Given the description of an element on the screen output the (x, y) to click on. 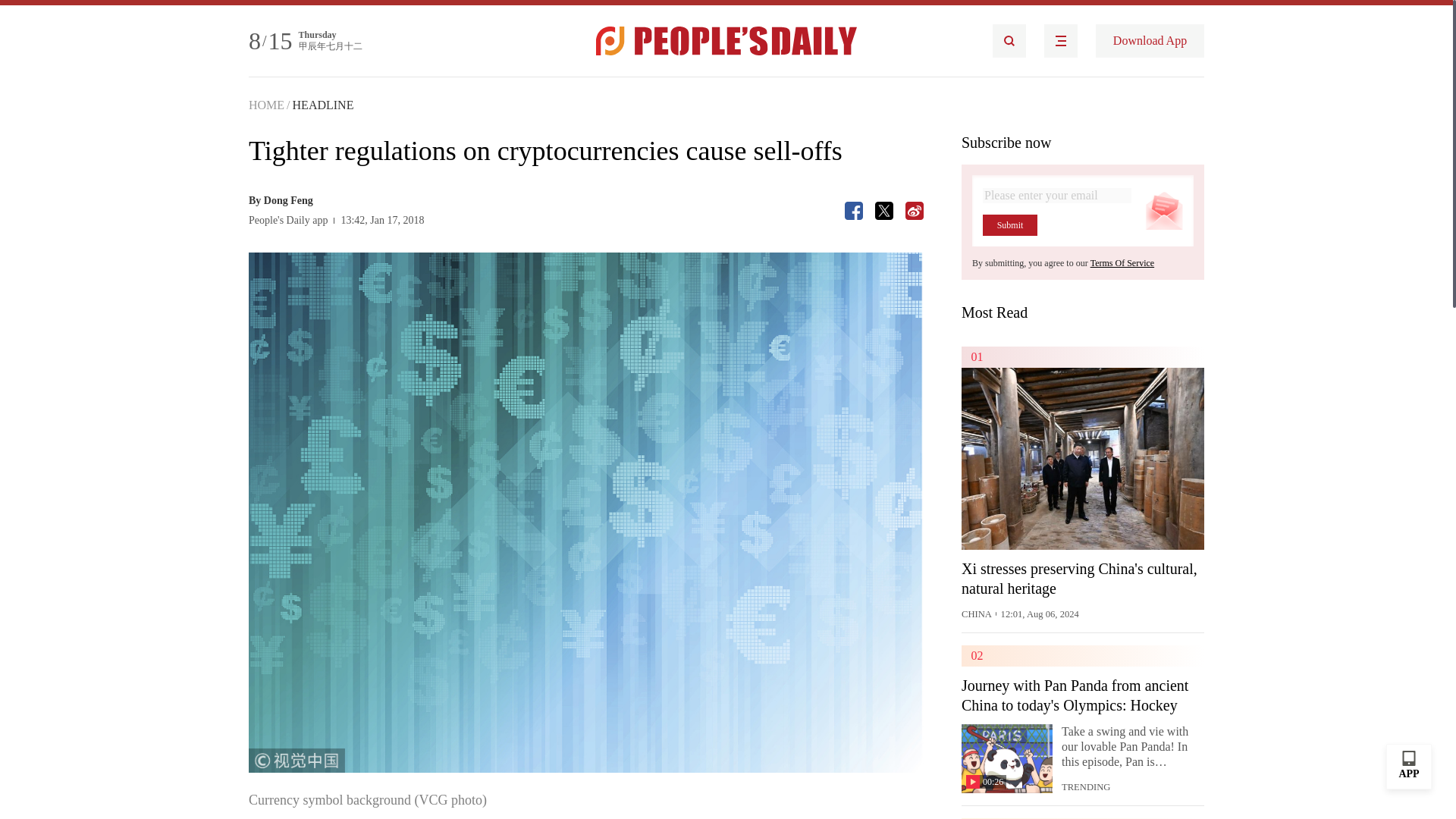
HOME (265, 105)
Terms Of Service (1122, 262)
Download App (1150, 40)
